Given the description of an element on the screen output the (x, y) to click on. 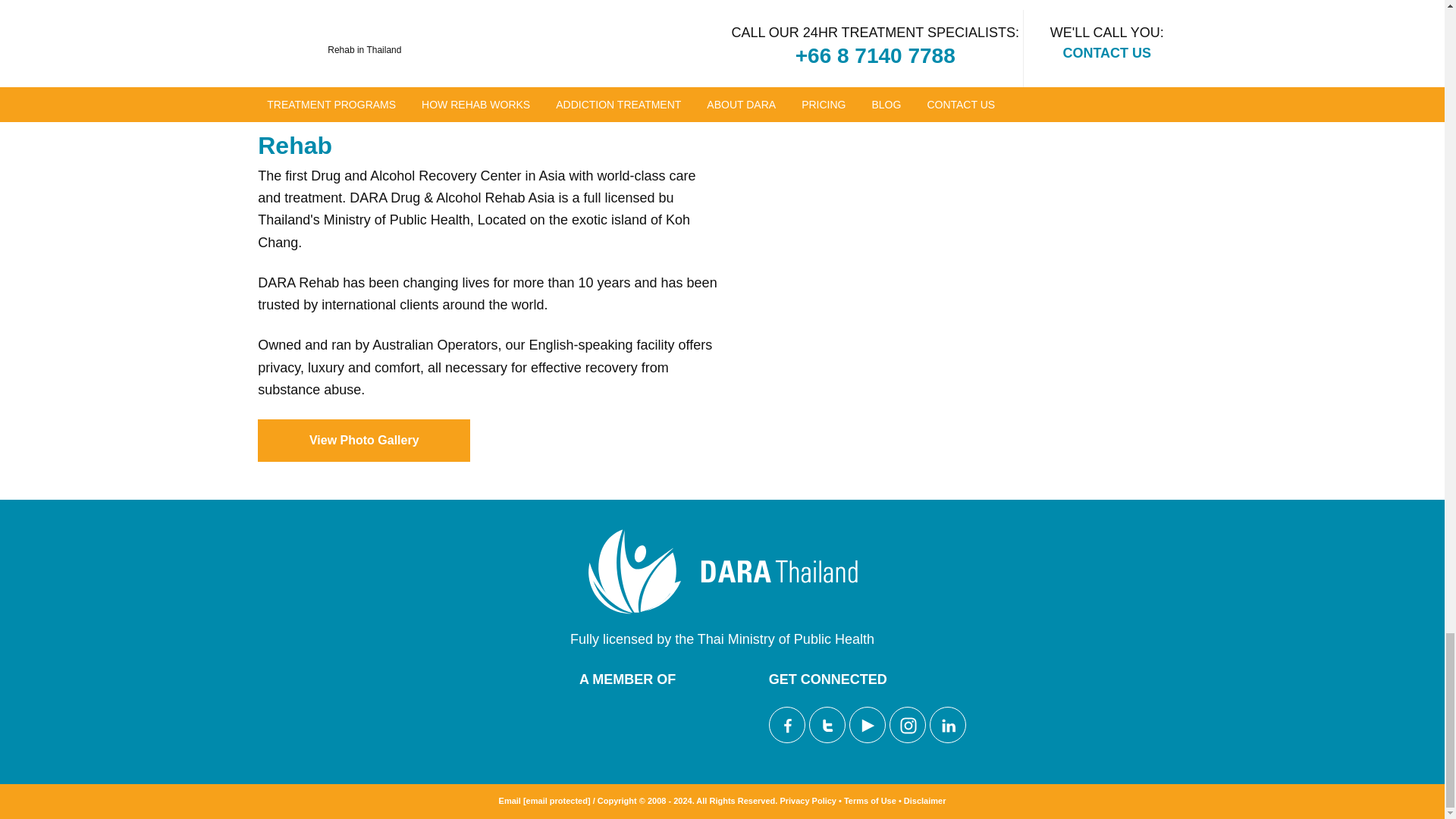
Facebook (786, 724)
YouTube (866, 724)
twitter (827, 725)
LinkedIn Profile (948, 724)
Instagram Profile (907, 724)
facebook (788, 725)
linkedin (948, 725)
Twitter (827, 724)
dara-logo-full-color (722, 571)
youtube (868, 725)
